Given the description of an element on the screen output the (x, y) to click on. 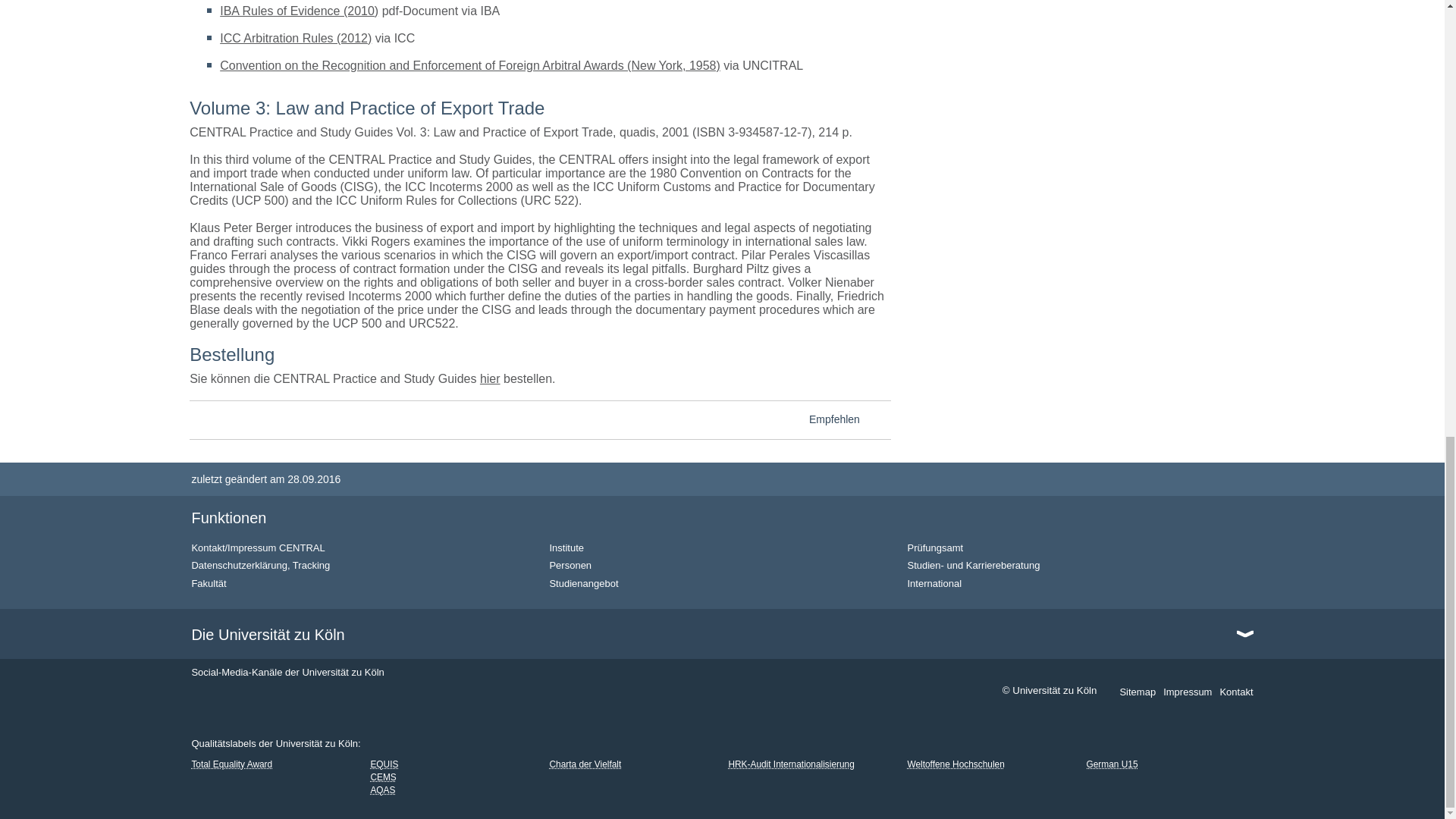
Artikel weiterempfehlen (878, 421)
